Given the description of an element on the screen output the (x, y) to click on. 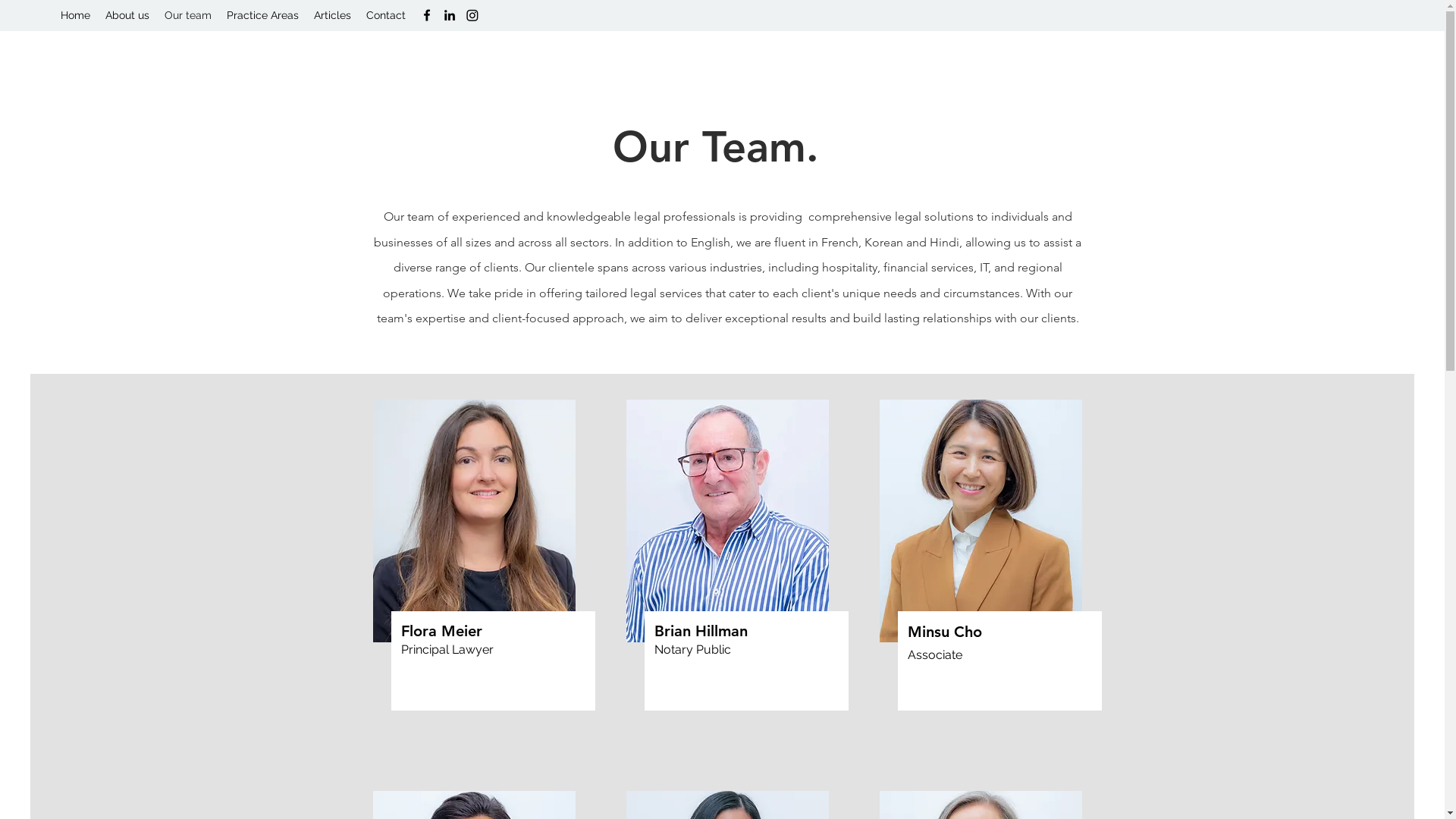
Practice Areas Element type: text (262, 15)
Contact Element type: text (385, 15)
Home Element type: text (75, 15)
Our team Element type: text (187, 15)
Articles Element type: text (332, 15)
About us Element type: text (126, 15)
